Given the description of an element on the screen output the (x, y) to click on. 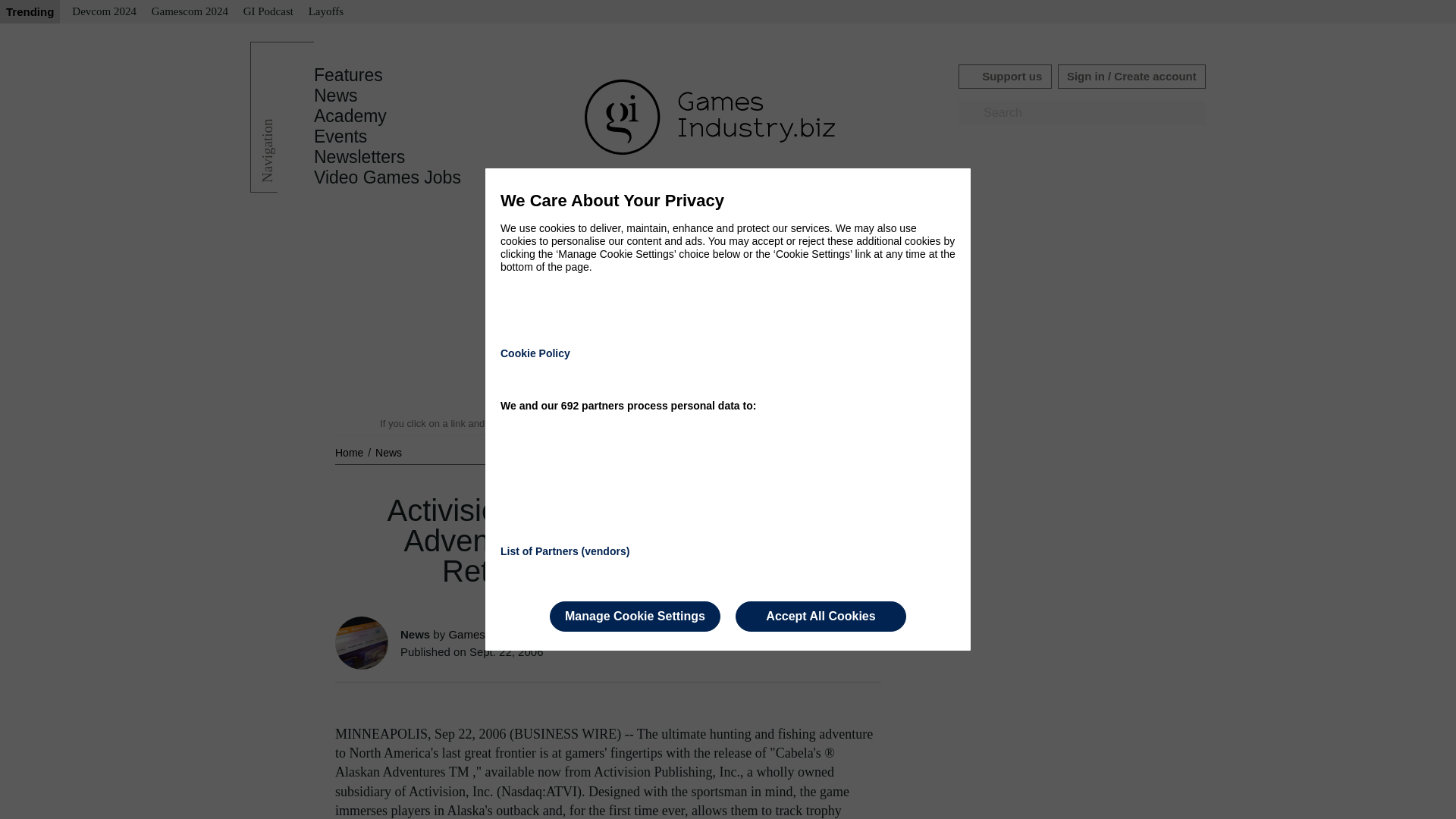
Features (348, 75)
Events (340, 136)
Devcom 2024 (103, 11)
News (336, 95)
GI Podcast (268, 11)
Gamescom 2024 (189, 11)
Video Games Jobs (387, 177)
News (388, 452)
Support us (1004, 75)
News (388, 452)
